Given the description of an element on the screen output the (x, y) to click on. 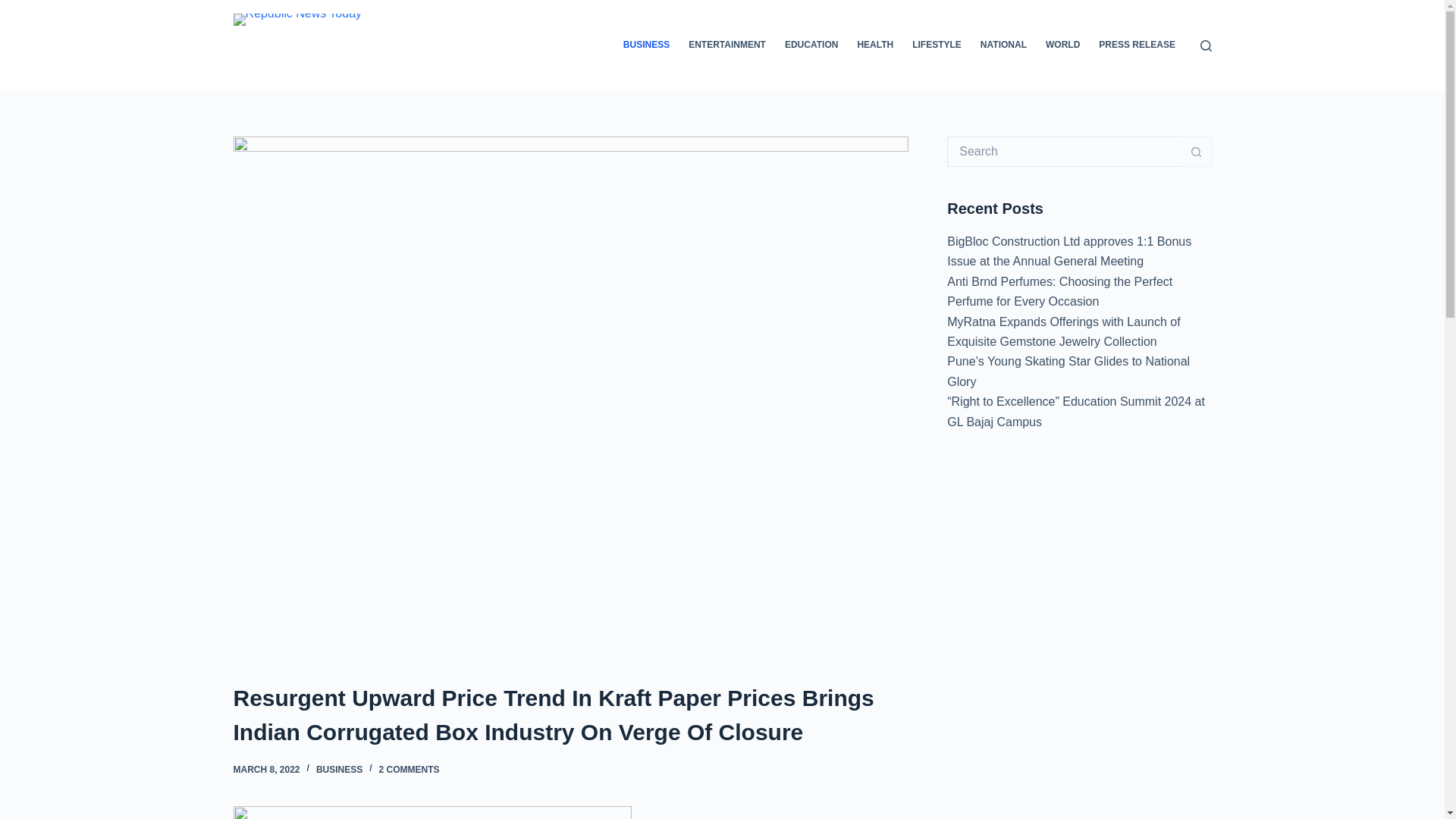
Skip to content (15, 7)
ENTERTAINMENT (727, 45)
Search for... (1063, 151)
BUSINESS (338, 769)
PRESS RELEASE (1137, 45)
2 COMMENTS (408, 769)
